Given the description of an element on the screen output the (x, y) to click on. 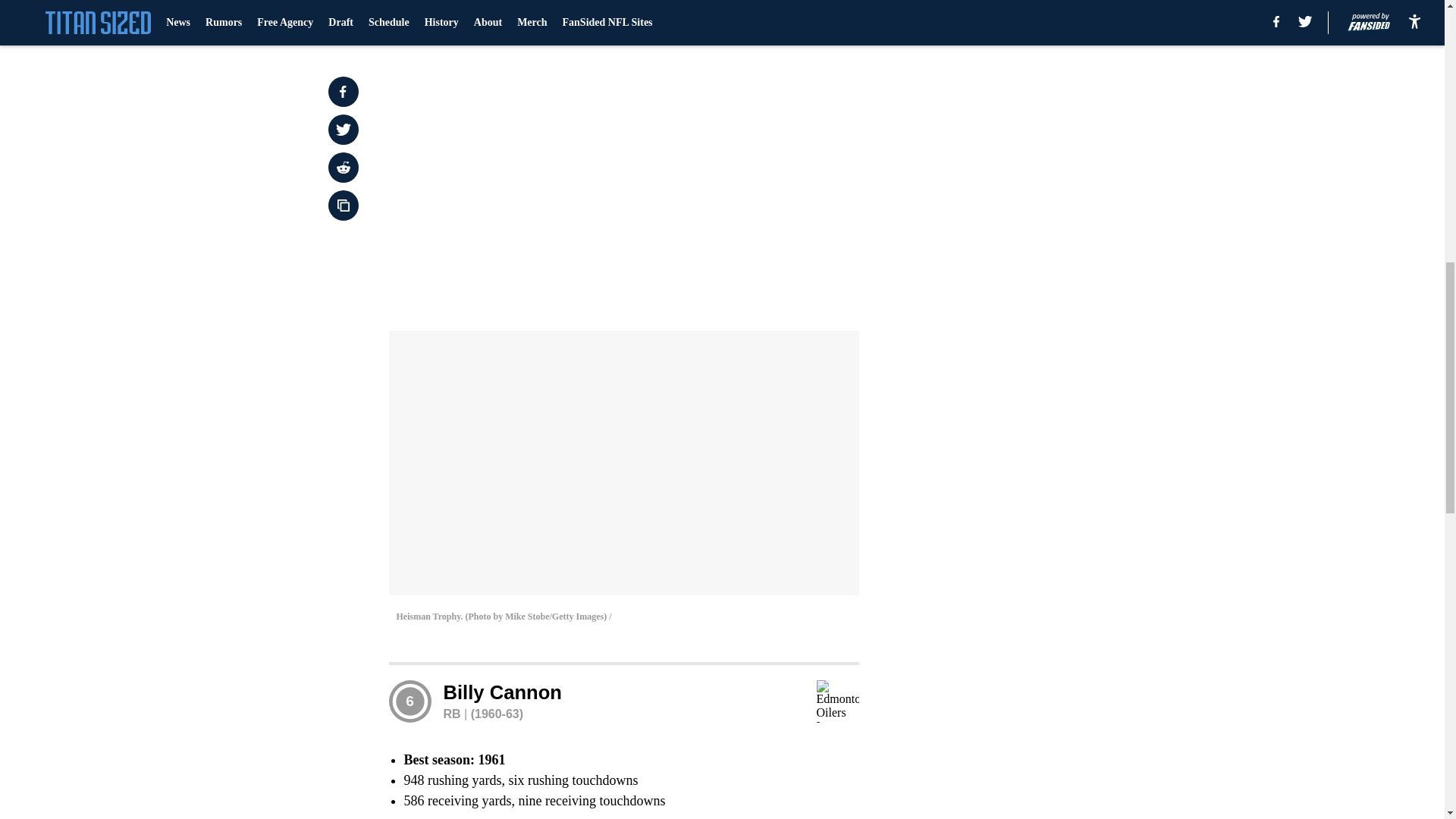
Next (813, 20)
Prev (433, 20)
